Given the description of an element on the screen output the (x, y) to click on. 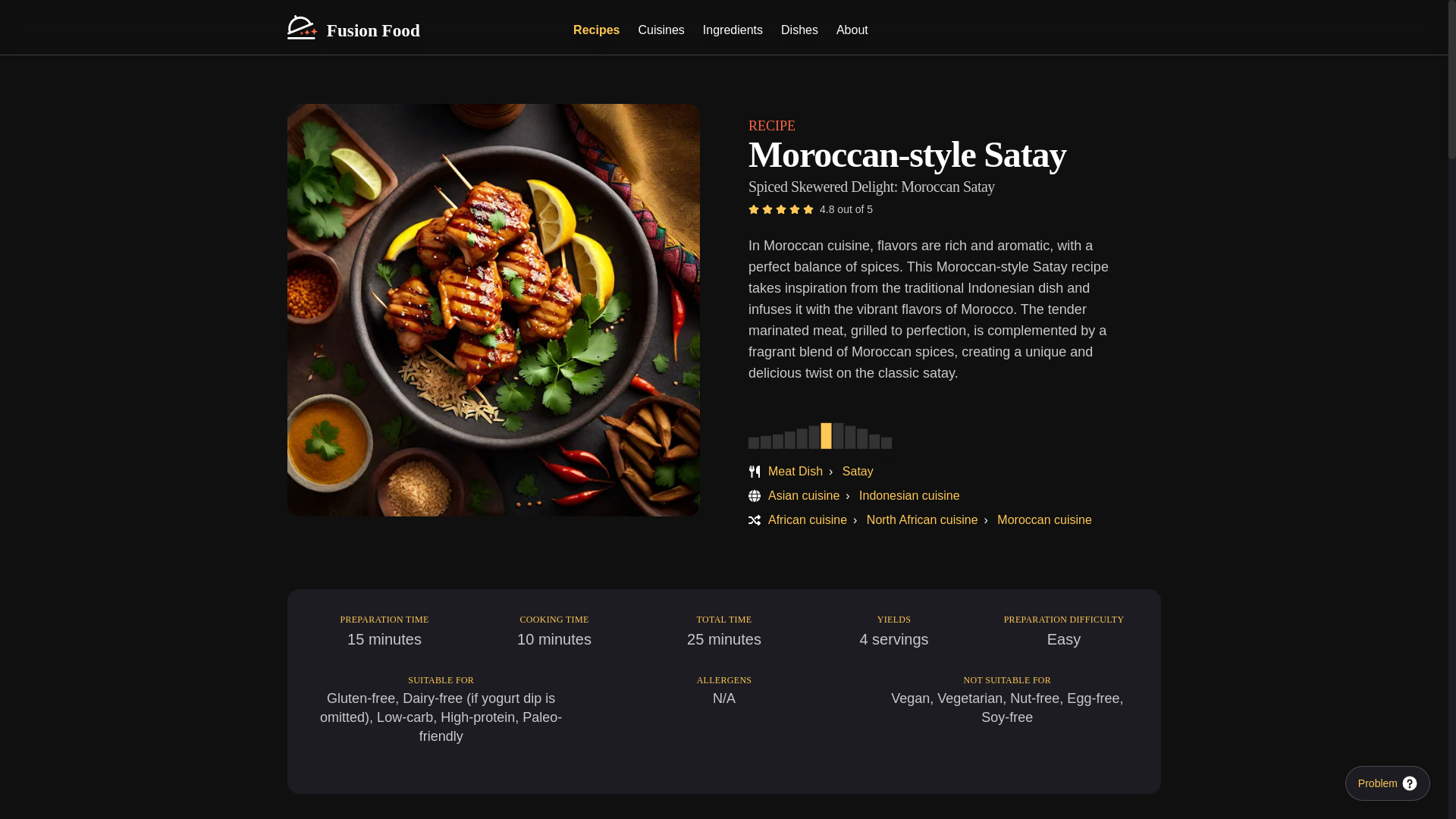
Fusion Food (353, 27)
Moroccan cuisine (826, 440)
Ingredients (1044, 519)
Recipes (729, 30)
About (593, 30)
Indonesian cuisine (848, 30)
Meat Dish (909, 495)
Dishes (795, 471)
Satay (796, 30)
Asian cuisine (858, 471)
African cuisine (804, 495)
North African cuisine (807, 519)
Cuisines (922, 519)
